Given the description of an element on the screen output the (x, y) to click on. 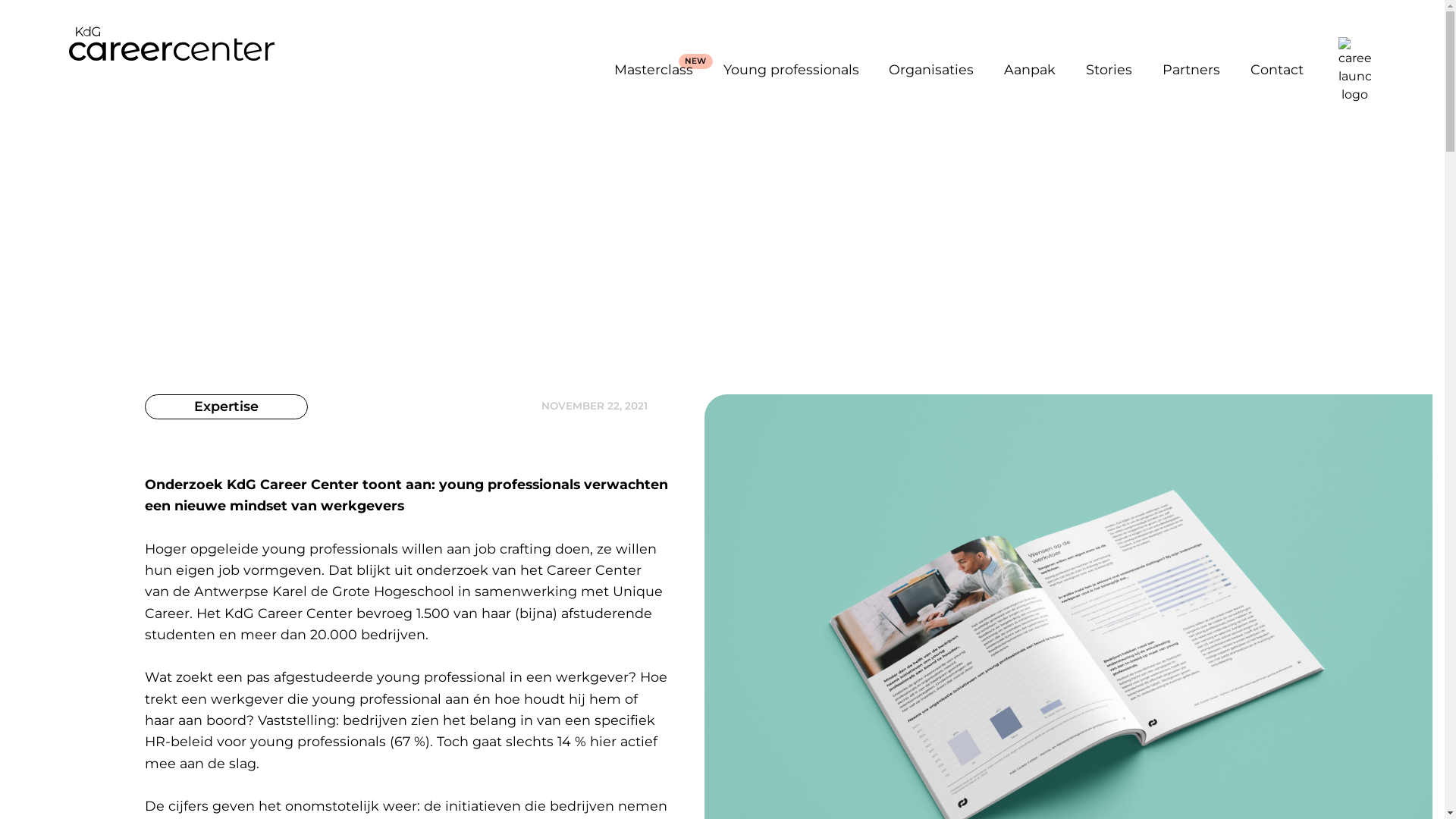
KDG Careercenter Element type: hover (171, 43)
Masterclass Element type: text (653, 69)
Young professionals Element type: text (791, 69)
Partners Element type: text (1191, 69)
Aanpak Element type: text (1029, 69)
Contact Element type: text (1276, 69)
Stories Element type: text (1108, 69)
Expertise Element type: text (225, 406)
Organisaties Element type: text (930, 69)
